Given the description of an element on the screen output the (x, y) to click on. 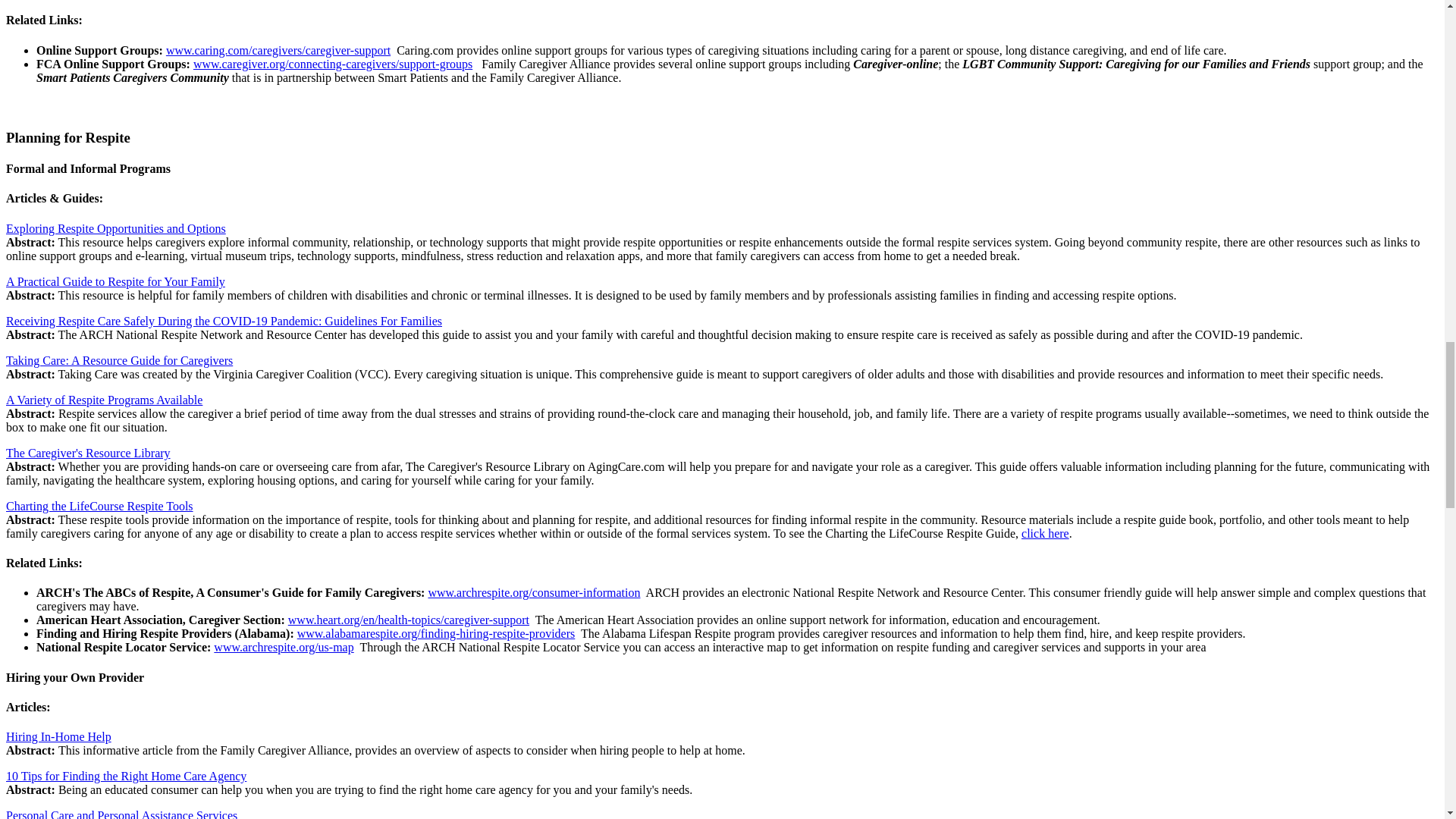
A Practical Guide to Respite for Your Family (115, 281)
Exploring Respite Opportunities and Options (115, 228)
